Given the description of an element on the screen output the (x, y) to click on. 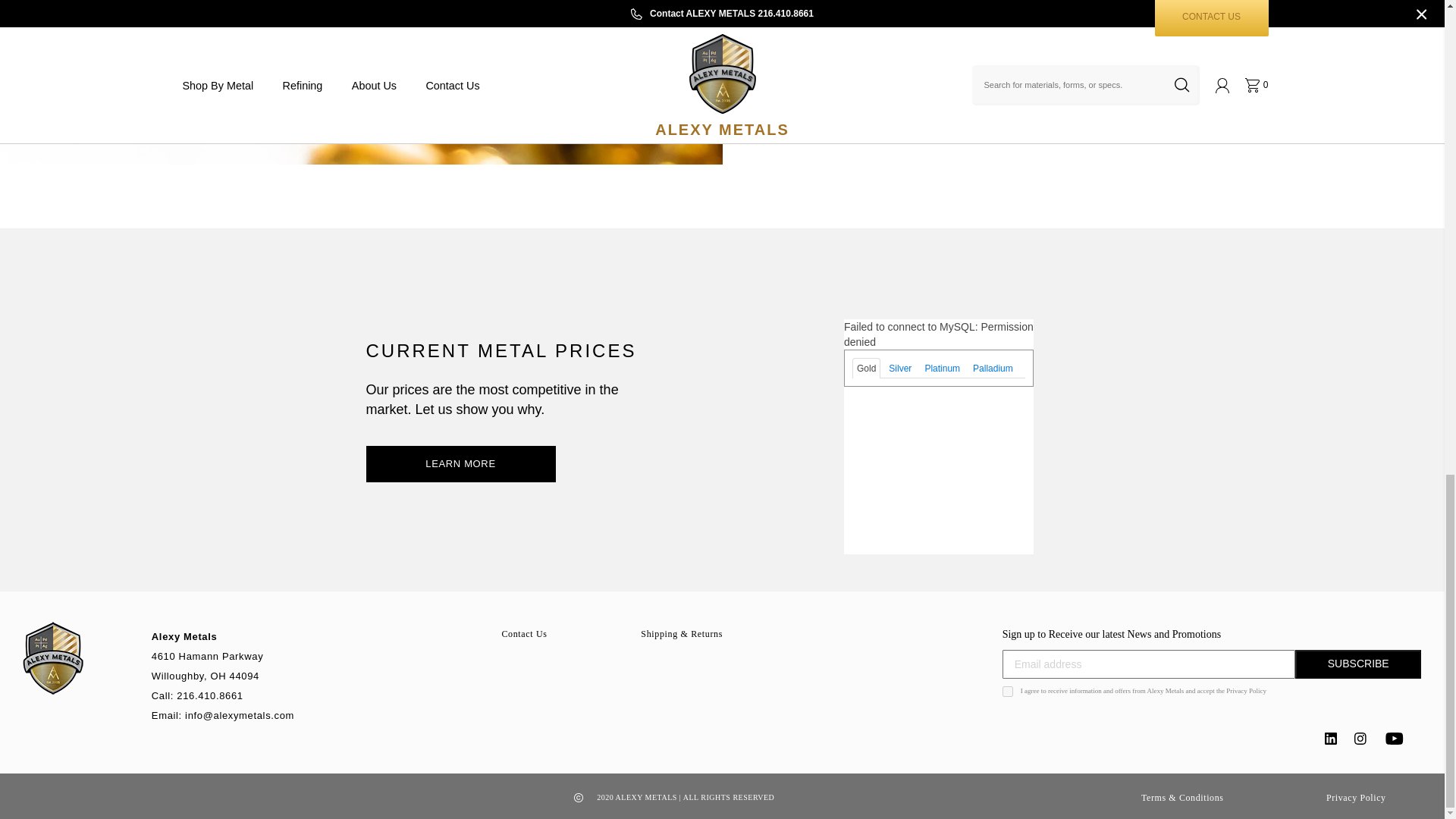
on (1008, 691)
LEARN MORE (459, 464)
SUBSCRIBE (1358, 664)
